Given the description of an element on the screen output the (x, y) to click on. 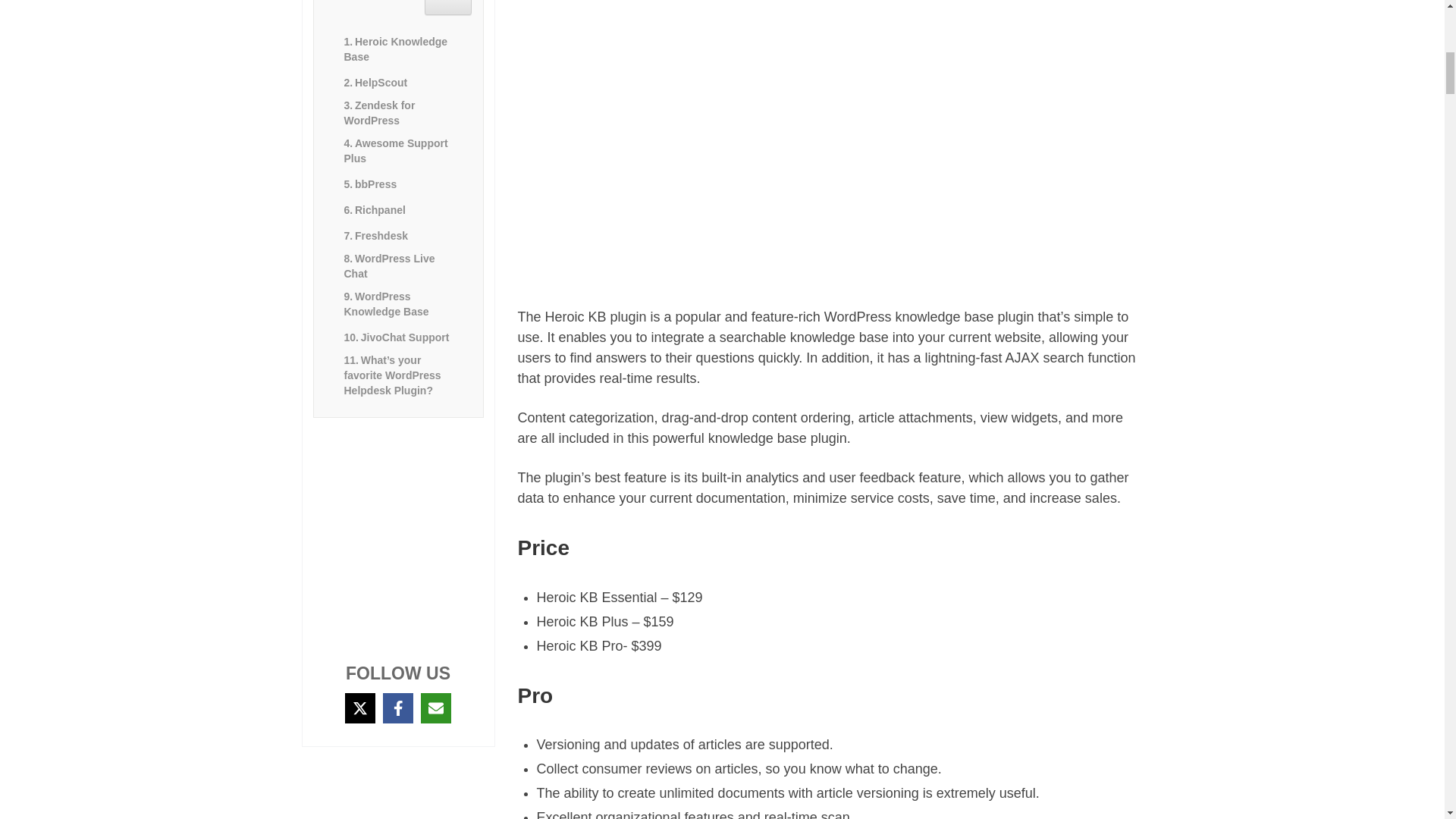
HelpScout (371, 82)
Heroic Knowledge Base (448, 7)
Heroic Knowledge Base (398, 49)
Zendesk for WordPress (398, 49)
